Given the description of an element on the screen output the (x, y) to click on. 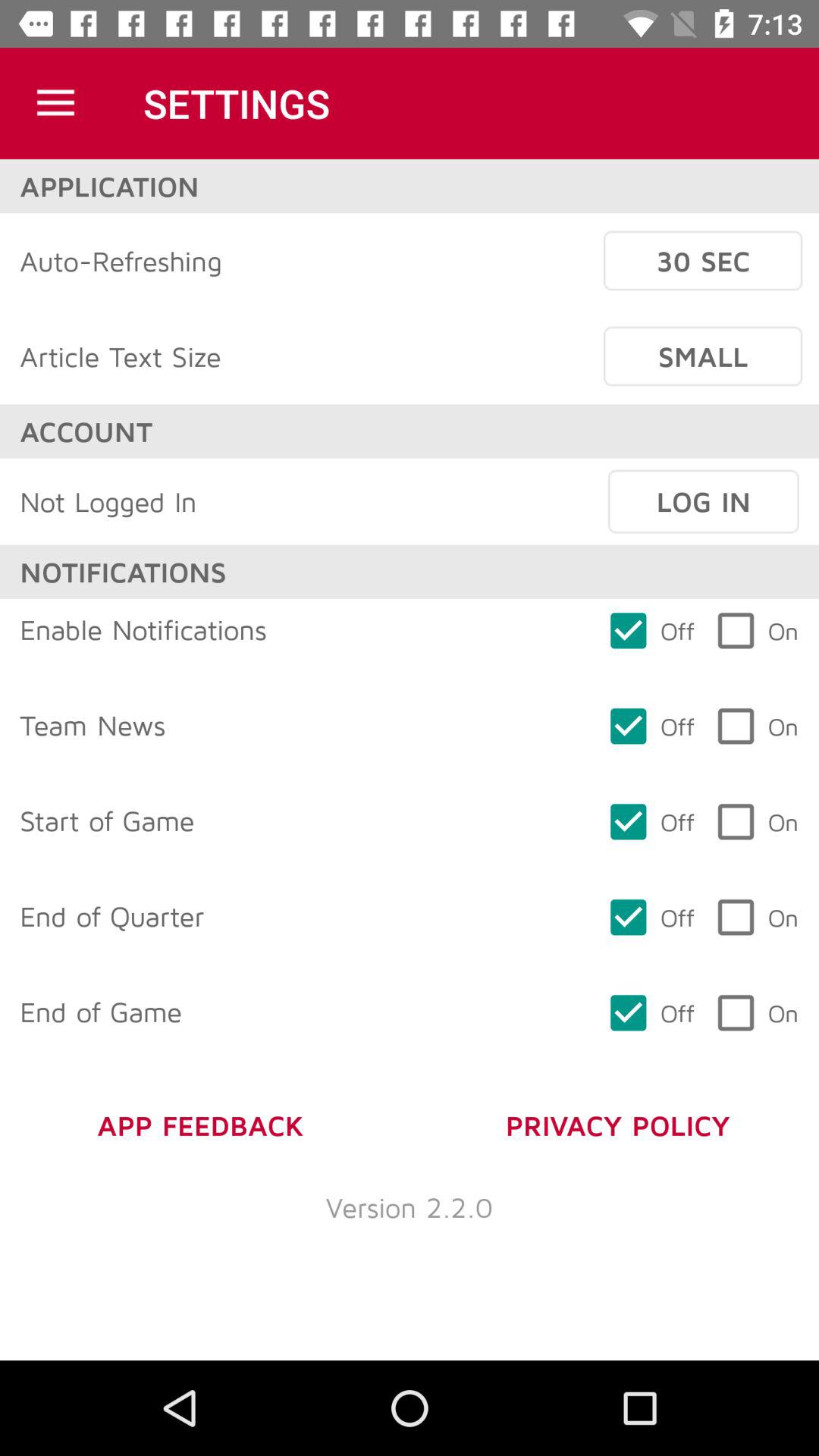
press icon to the right of not logged in item (703, 501)
